Given the description of an element on the screen output the (x, y) to click on. 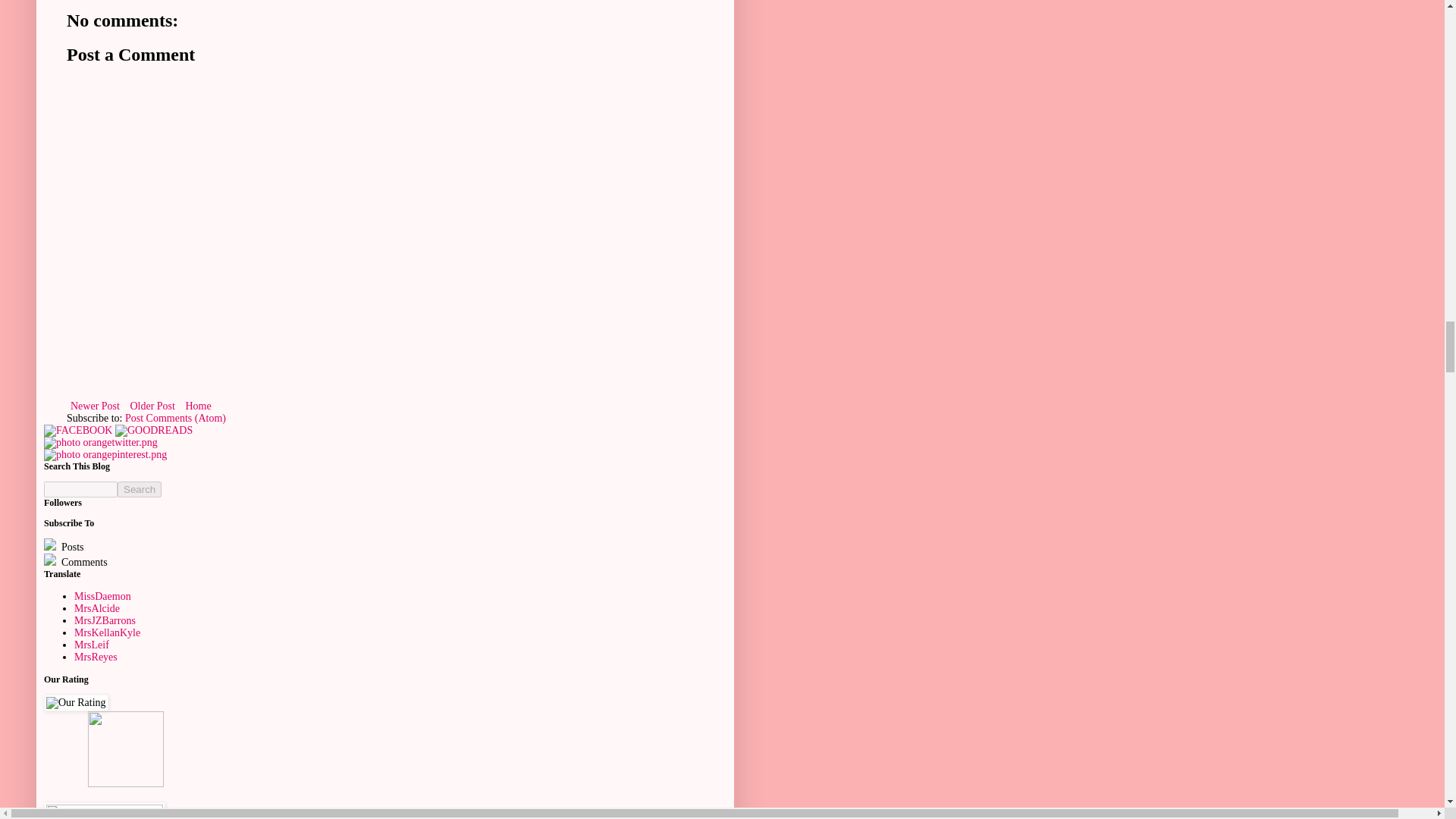
search (139, 489)
Newer Post (94, 405)
search (80, 489)
Older Post (152, 405)
Search (139, 489)
Search (139, 489)
Newer Post (94, 405)
